Given the description of an element on the screen output the (x, y) to click on. 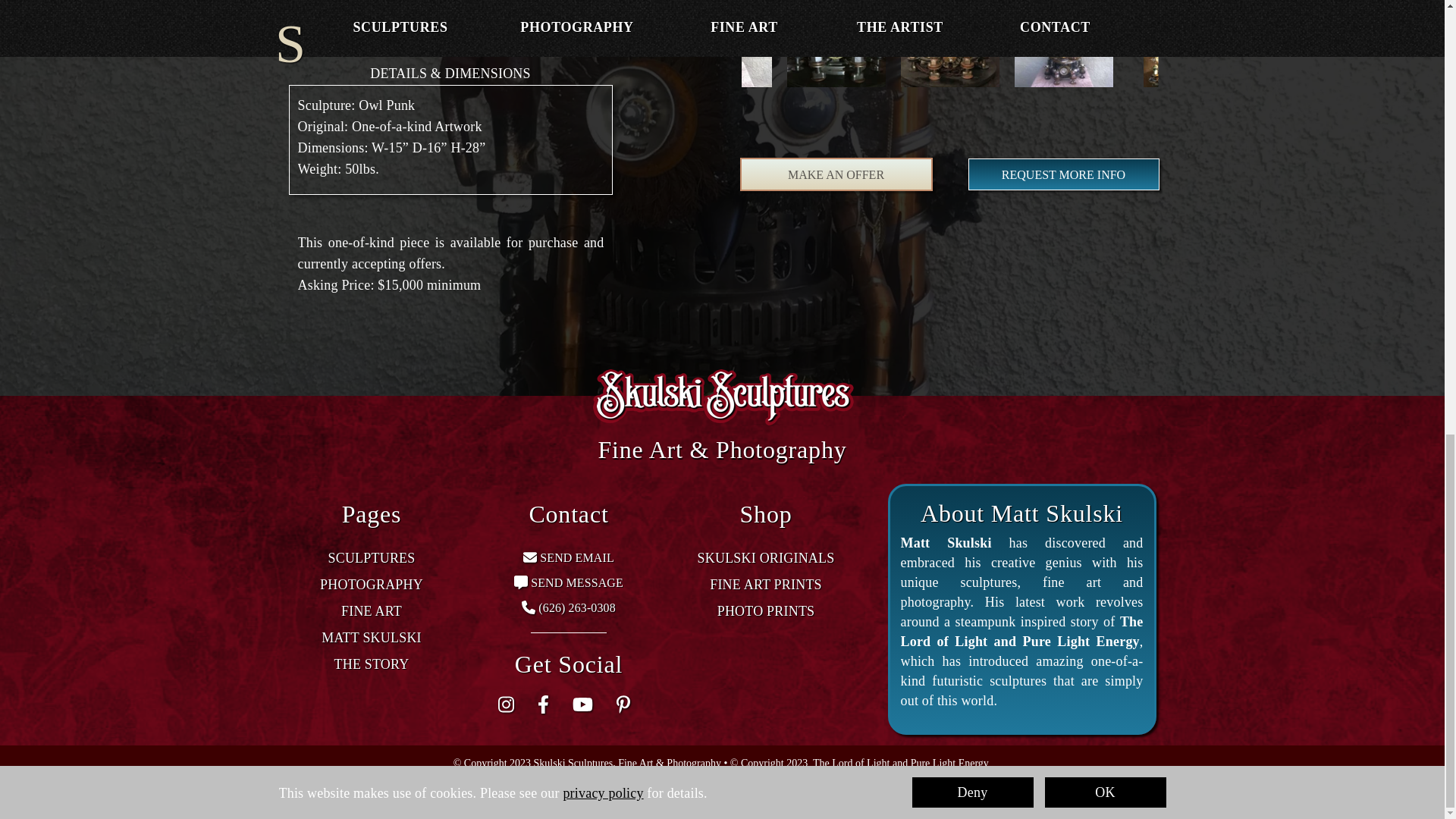
Phone (528, 607)
Message (520, 581)
Facebook F (547, 703)
THE STORY (371, 663)
MATT SKULSKI (371, 637)
YouTube (582, 704)
Message (520, 581)
Envelope (529, 557)
skulski sculptures (722, 397)
PHOTO PRINTS (766, 611)
Instagram (509, 703)
Envelope (529, 557)
FINE ART (370, 611)
SEND EMAIL (575, 557)
SCULPTURES (370, 557)
